Given the description of an element on the screen output the (x, y) to click on. 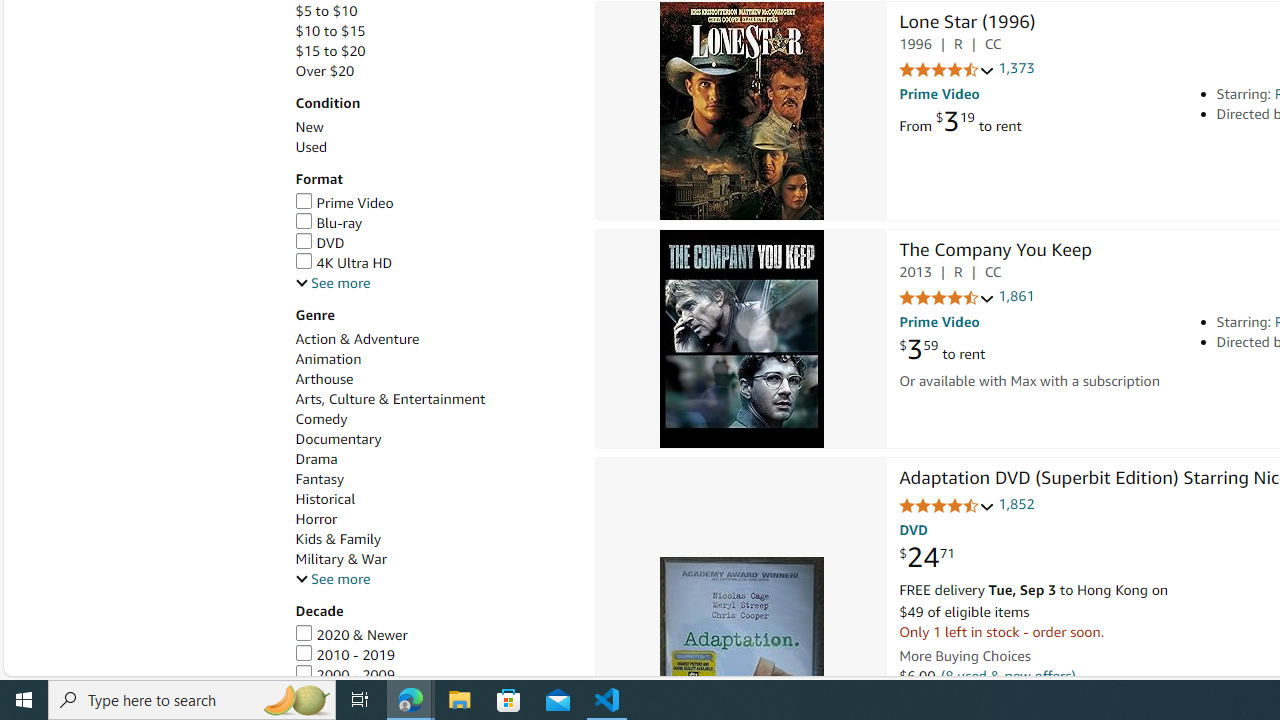
Arthouse (434, 379)
The Company You Keep (994, 251)
1,373 (1016, 69)
Historical (324, 499)
$5 to $10 (326, 11)
2000 - 2009 (344, 674)
2000 - 2009 (434, 675)
2010 - 2019 (344, 655)
Kids & Family (434, 539)
Comedy (321, 419)
1,852 (1016, 504)
Arts, Culture & Entertainment (390, 399)
Blu-ray (328, 223)
2020 & Newer (351, 634)
Used (310, 147)
